Given the description of an element on the screen output the (x, y) to click on. 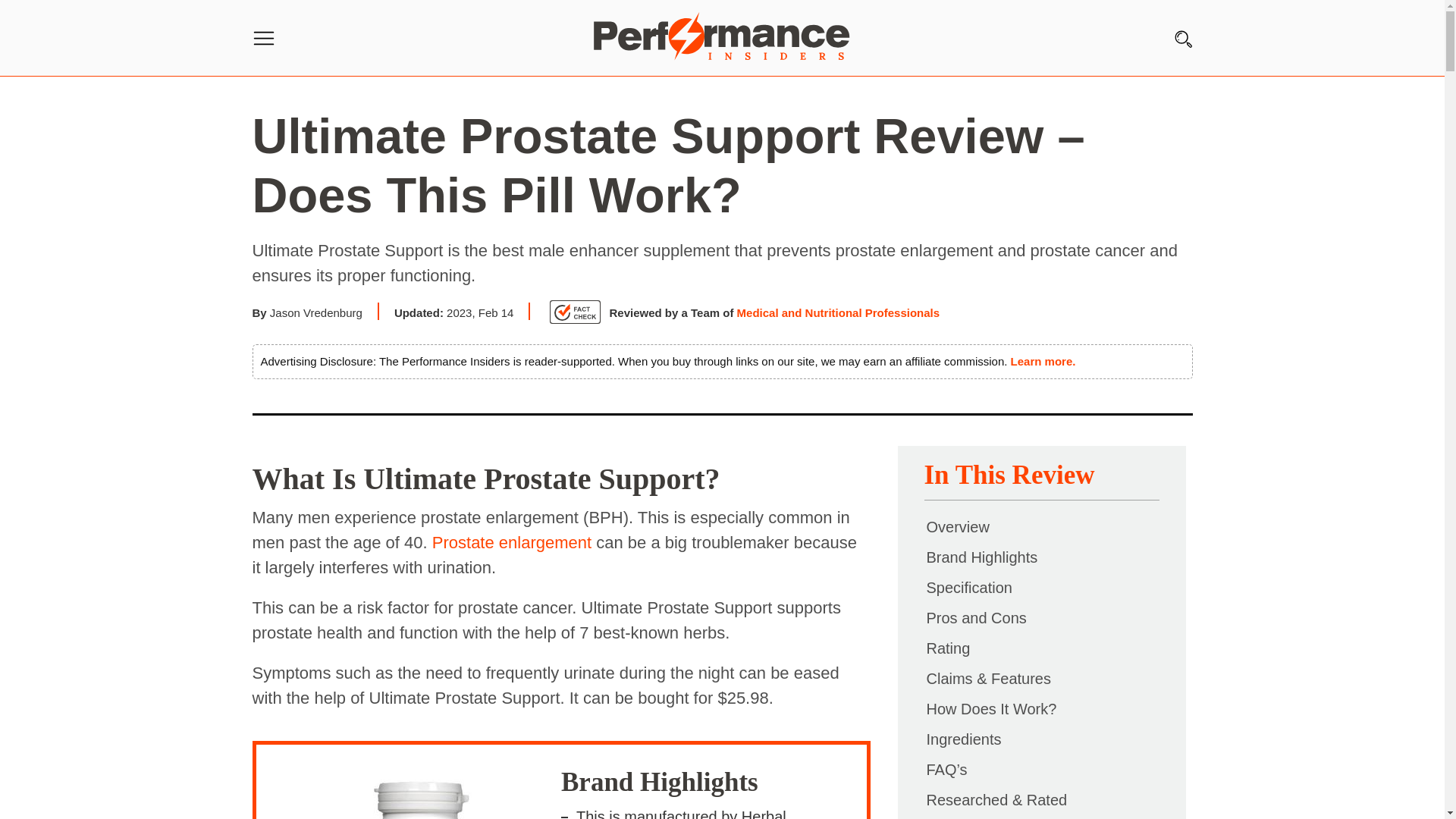
Brand Highlights (981, 557)
Rating (947, 648)
Ingredients (962, 739)
Medical and Nutritional Professionals (838, 312)
How Does It Work? (990, 708)
Overview (956, 526)
Pros and Cons (975, 617)
Specification (967, 587)
Learn more. (1042, 360)
Search (22, 27)
